Given the description of an element on the screen output the (x, y) to click on. 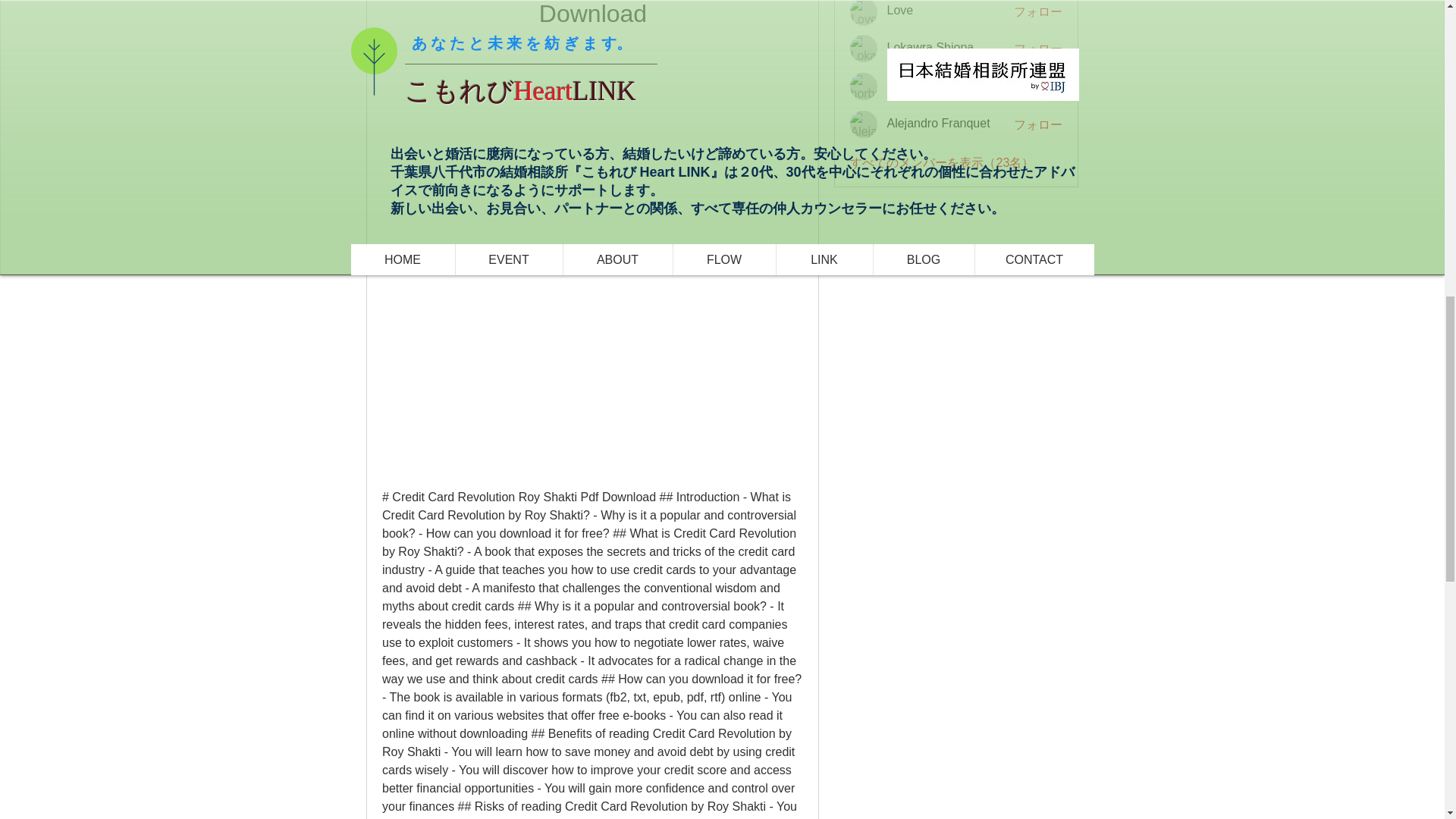
Alejandro Franquet (863, 124)
Lokawra Shiopa (863, 48)
Love (863, 12)
horbucher kostenlos (863, 85)
